Given the description of an element on the screen output the (x, y) to click on. 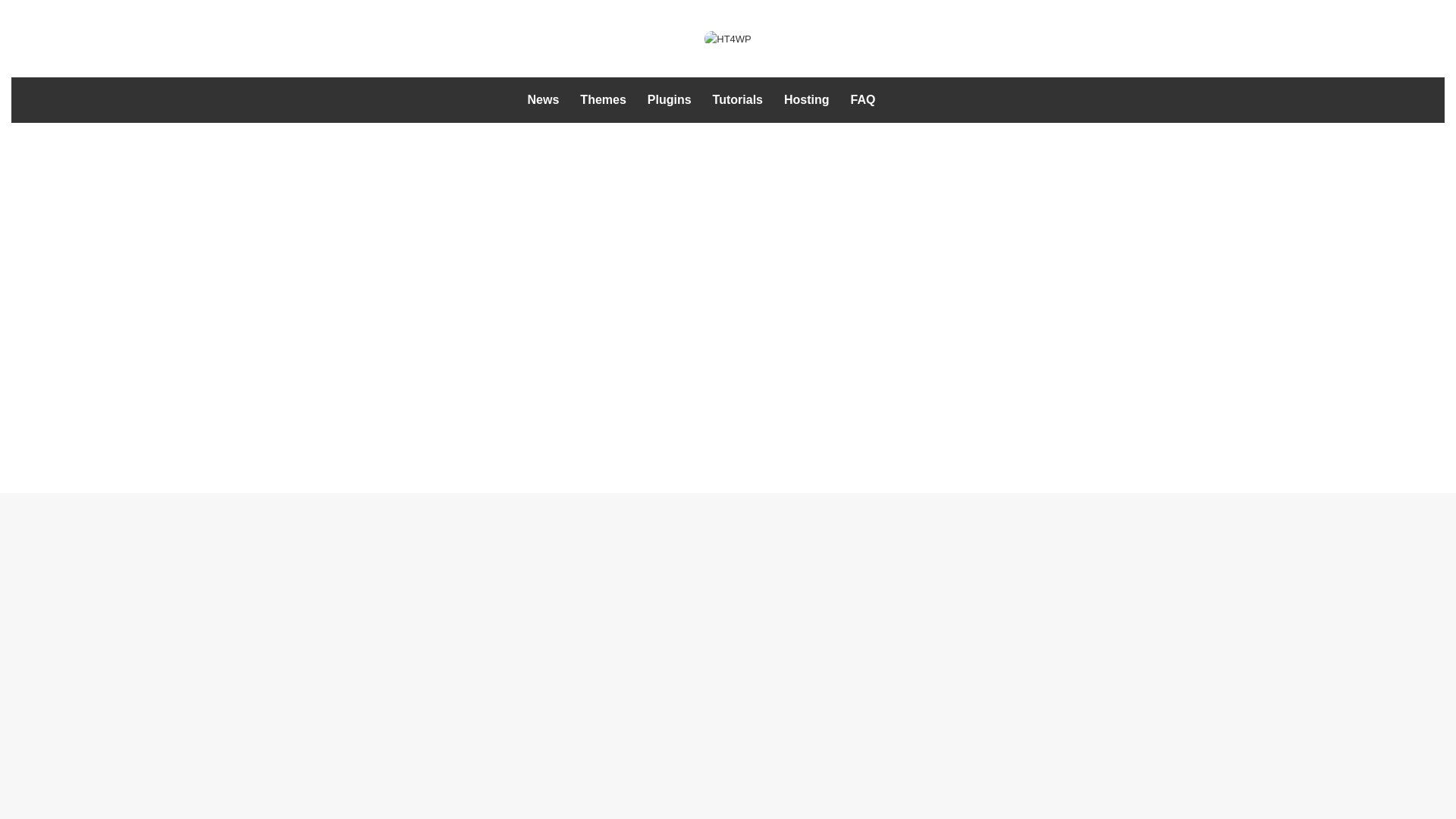
Tutorials (737, 99)
HT4WP (727, 38)
Themes (602, 99)
Hosting (806, 99)
News (543, 99)
FAQ (863, 99)
Plugins (669, 99)
